Given the description of an element on the screen output the (x, y) to click on. 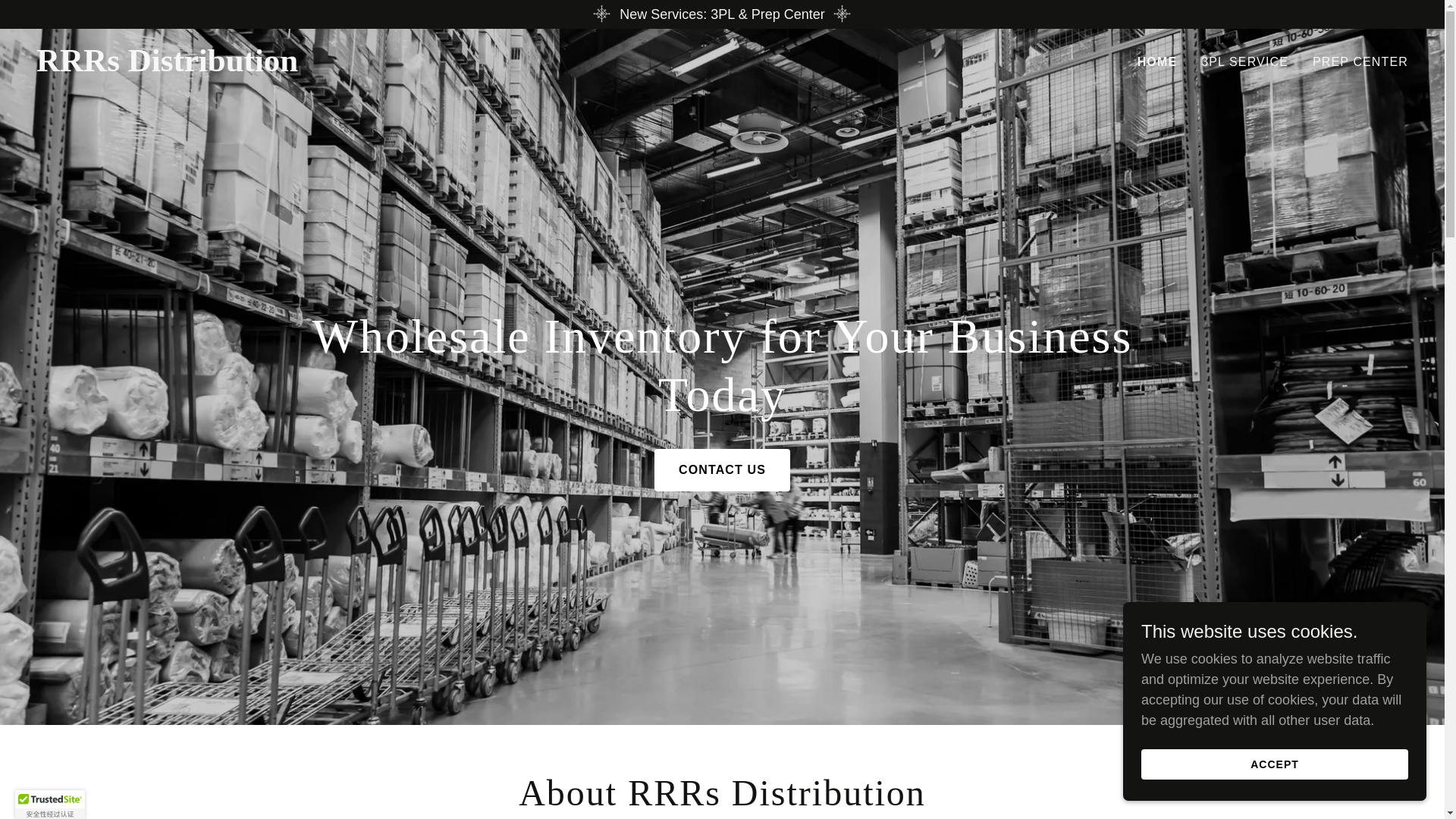
PREP CENTER (1359, 62)
ACCEPT (1274, 764)
CONTACT US (721, 469)
RRRs Distribution  (276, 66)
3PL SERVICE (1244, 62)
HOME (1157, 62)
RRRs Distribution (276, 66)
TrustedSite Certified (49, 804)
